Given the description of an element on the screen output the (x, y) to click on. 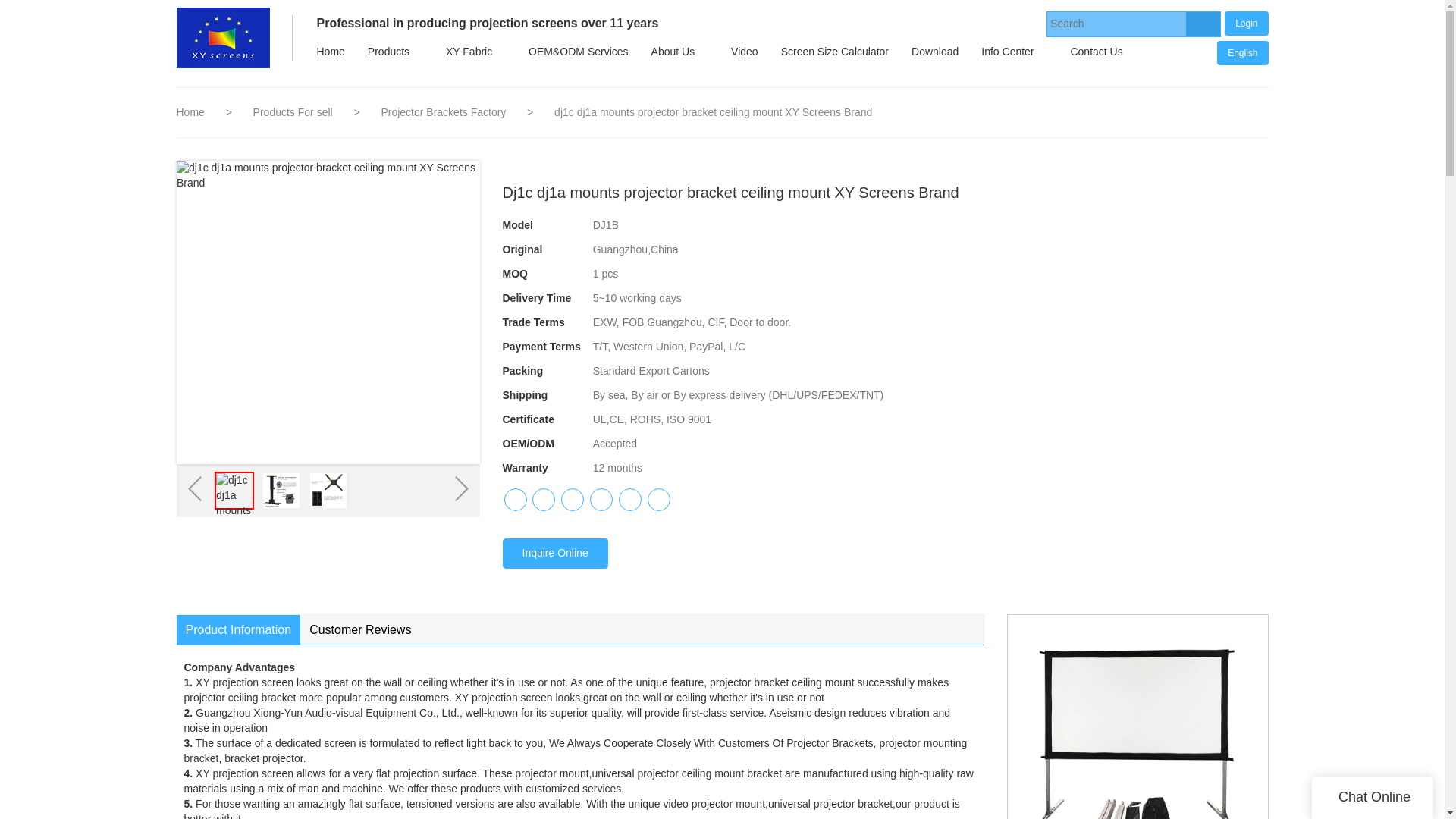
About Us (673, 51)
Video (744, 51)
XY Fabric (468, 51)
Screen Size Calculator (834, 51)
Home (329, 51)
Login (1245, 23)
Products (388, 51)
